Given the description of an element on the screen output the (x, y) to click on. 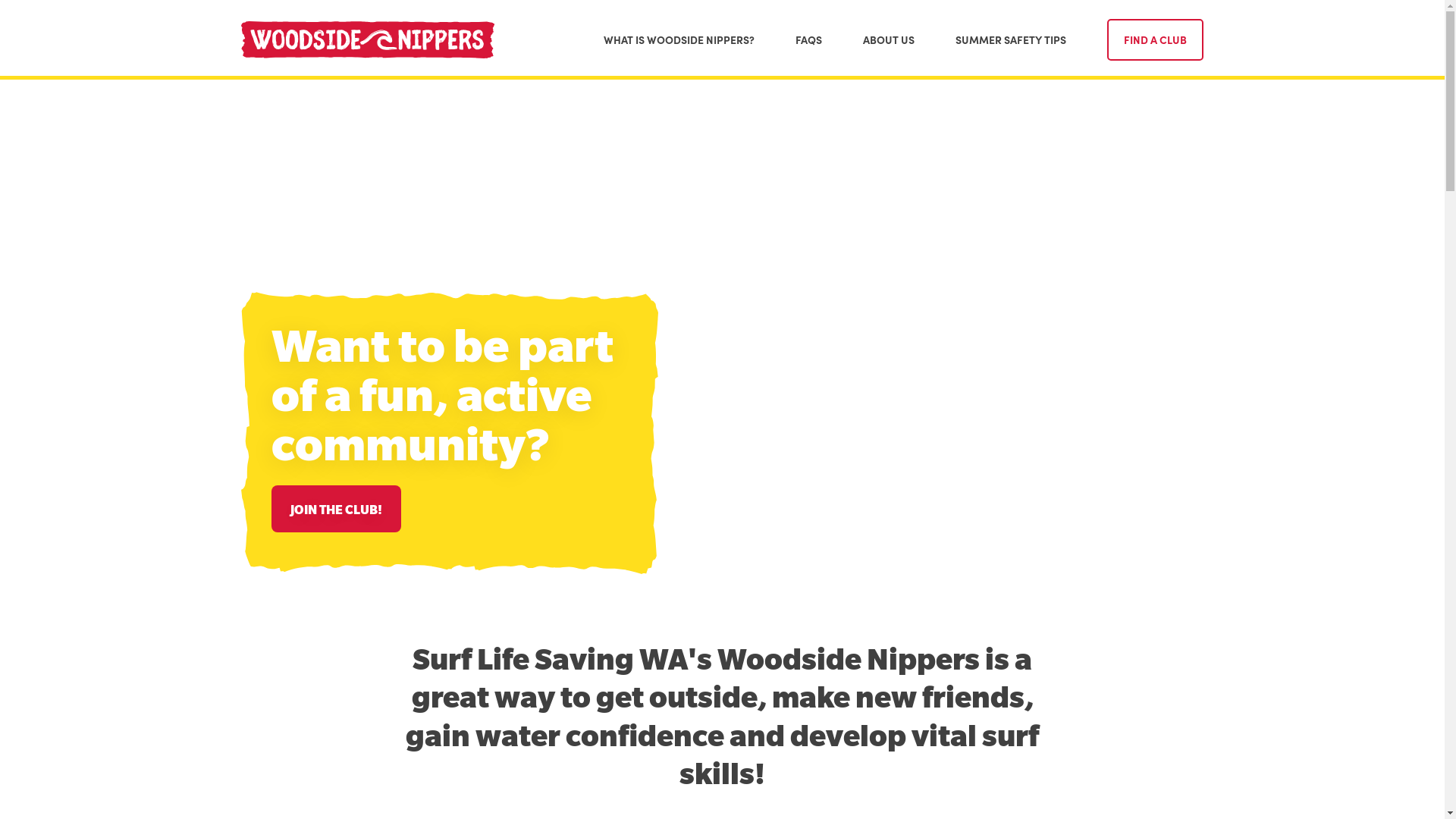
SUMMER SAFETY TIPS Element type: text (1010, 39)
JOIN THE CLUB! Element type: text (336, 508)
FAQS Element type: text (808, 39)
FIND A CLUB Element type: text (1154, 39)
ABOUT US Element type: text (888, 39)
WHAT IS WOODSIDE NIPPERS? Element type: text (678, 39)
